Given the description of an element on the screen output the (x, y) to click on. 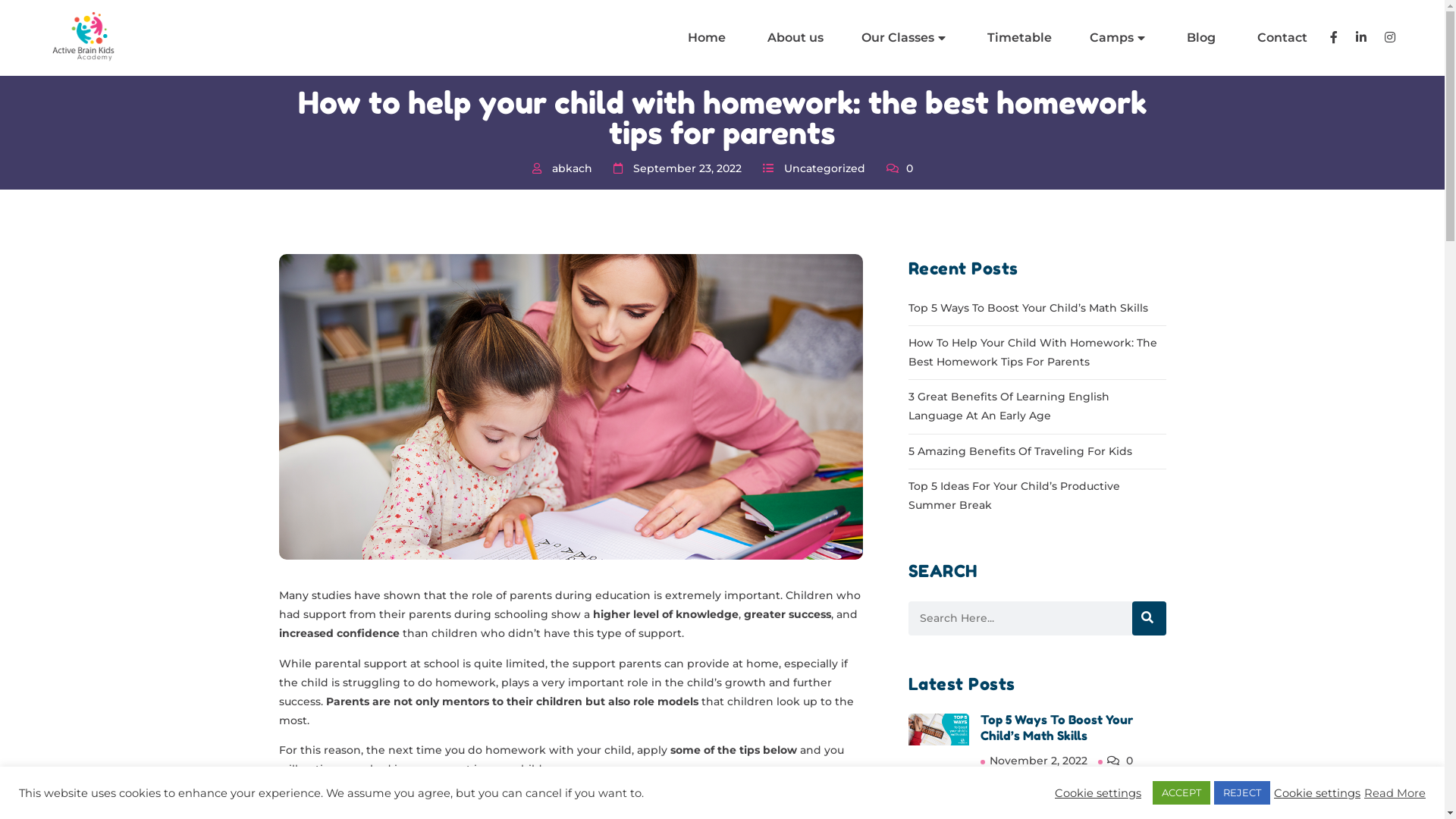
Camps Element type: text (1117, 37)
Cookie settings Element type: text (1317, 792)
Instagram Element type: text (937, 481)
Instagram Element type: text (1024, 597)
About us Element type: text (793, 37)
0 Element type: text (1128, 760)
0 Element type: text (898, 168)
Timetable Element type: text (621, 527)
5 Amazing Benefits Of Traveling For Kids Element type: text (1020, 451)
E-Mail: info@activebrainacademy.ch Element type: text (395, 546)
Uncategorized Element type: text (824, 168)
Contact Element type: text (1280, 37)
Active Brain Kids Academy - Learning is fun Element type: hover (84, 37)
abkach Element type: text (572, 168)
Home Element type: text (704, 37)
Blog Element type: text (1199, 37)
Cookie settings Element type: text (1097, 792)
Our Classes Element type: text (903, 37)
Read More Element type: text (1394, 792)
Privacy Policy Element type: text (631, 550)
ACCEPT Element type: text (1181, 792)
Timetable Element type: text (1017, 37)
REJECT Element type: text (1242, 792)
